Given the description of an element on the screen output the (x, y) to click on. 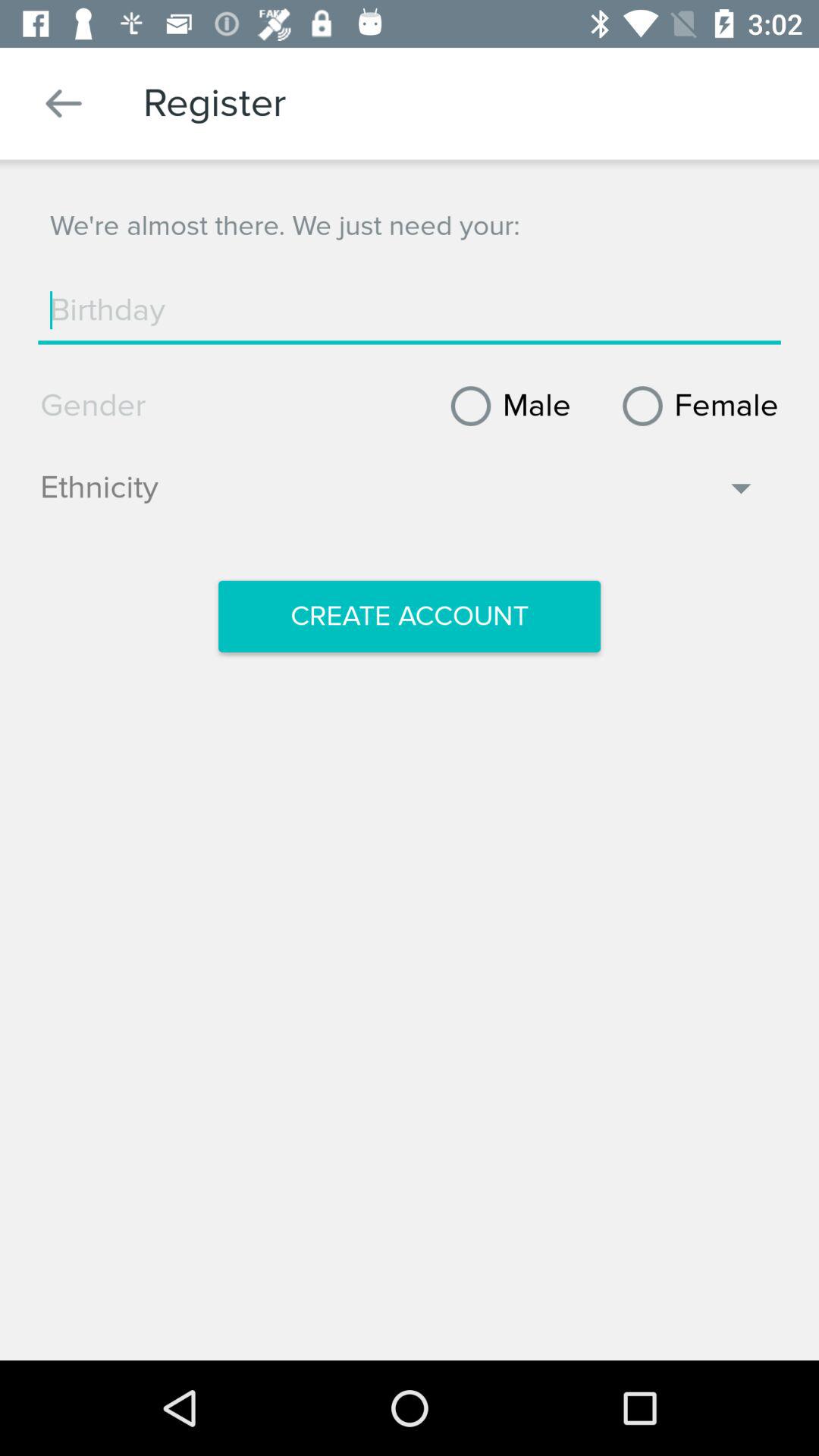
enter the birthday (409, 310)
